Given the description of an element on the screen output the (x, y) to click on. 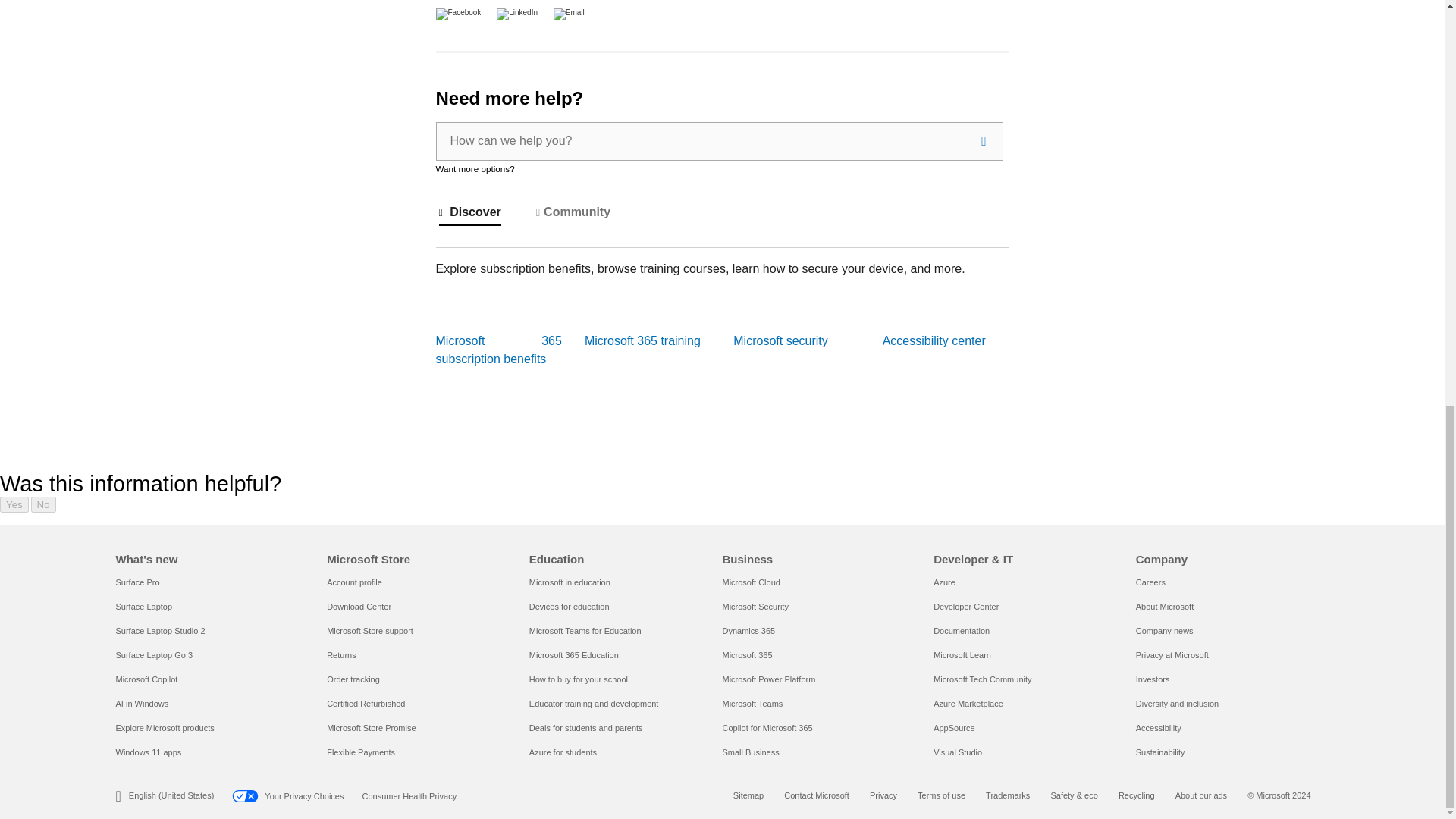
Share on Facebook (459, 11)
Share by email (562, 11)
Share on LinkedIn (511, 11)
Search (983, 141)
